Given the description of an element on the screen output the (x, y) to click on. 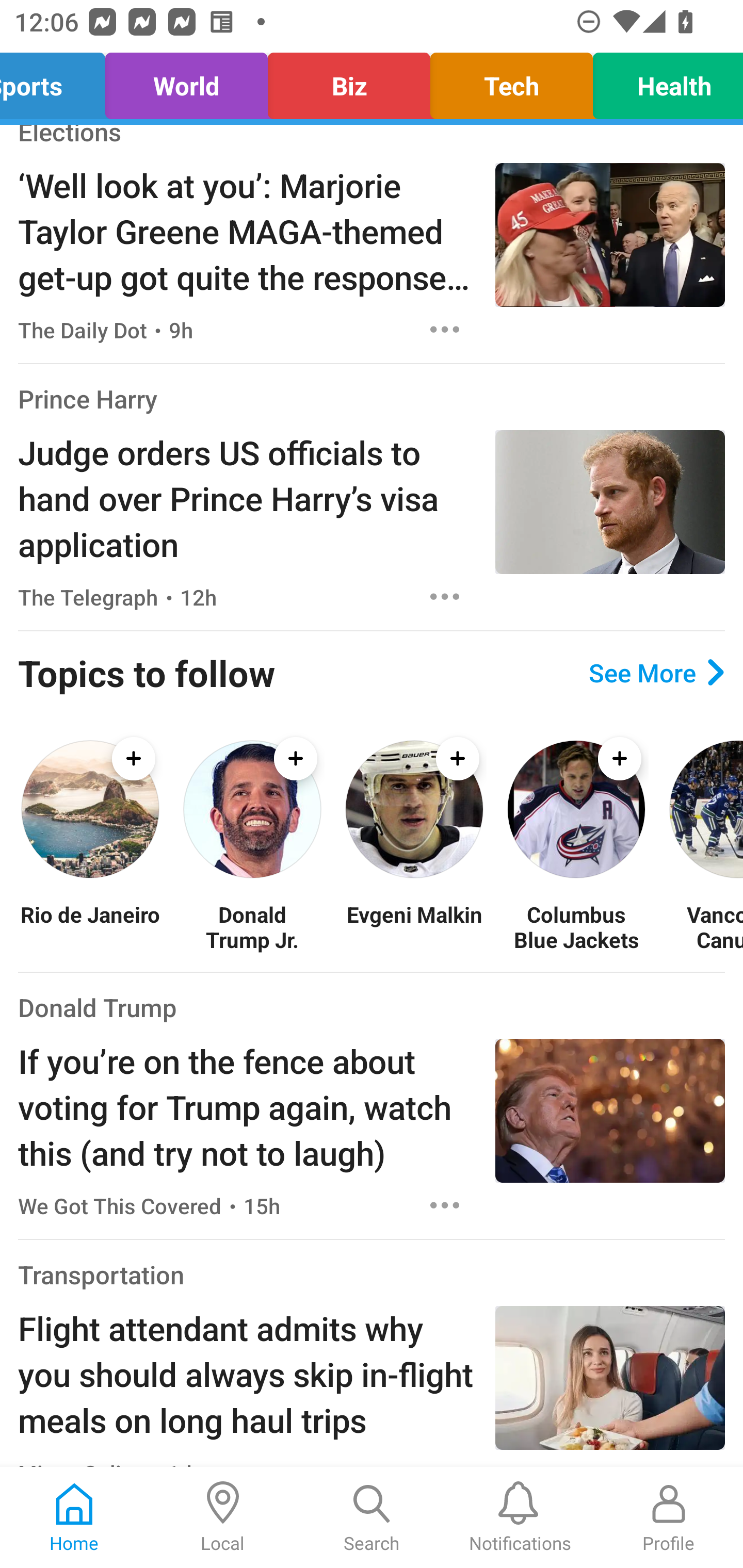
World (186, 81)
Biz (349, 81)
Tech (511, 81)
Health (662, 81)
Elections (69, 136)
Options (444, 329)
Prince Harry (87, 398)
Options (444, 596)
See More (656, 672)
Rio de Janeiro (89, 927)
Donald Trump Jr. (251, 927)
Evgeni Malkin (413, 927)
Columbus Blue Jackets (575, 927)
Donald Trump (97, 1006)
Options (444, 1205)
Transportation (100, 1274)
Local (222, 1517)
Search (371, 1517)
Notifications (519, 1517)
Profile (668, 1517)
